Given the description of an element on the screen output the (x, y) to click on. 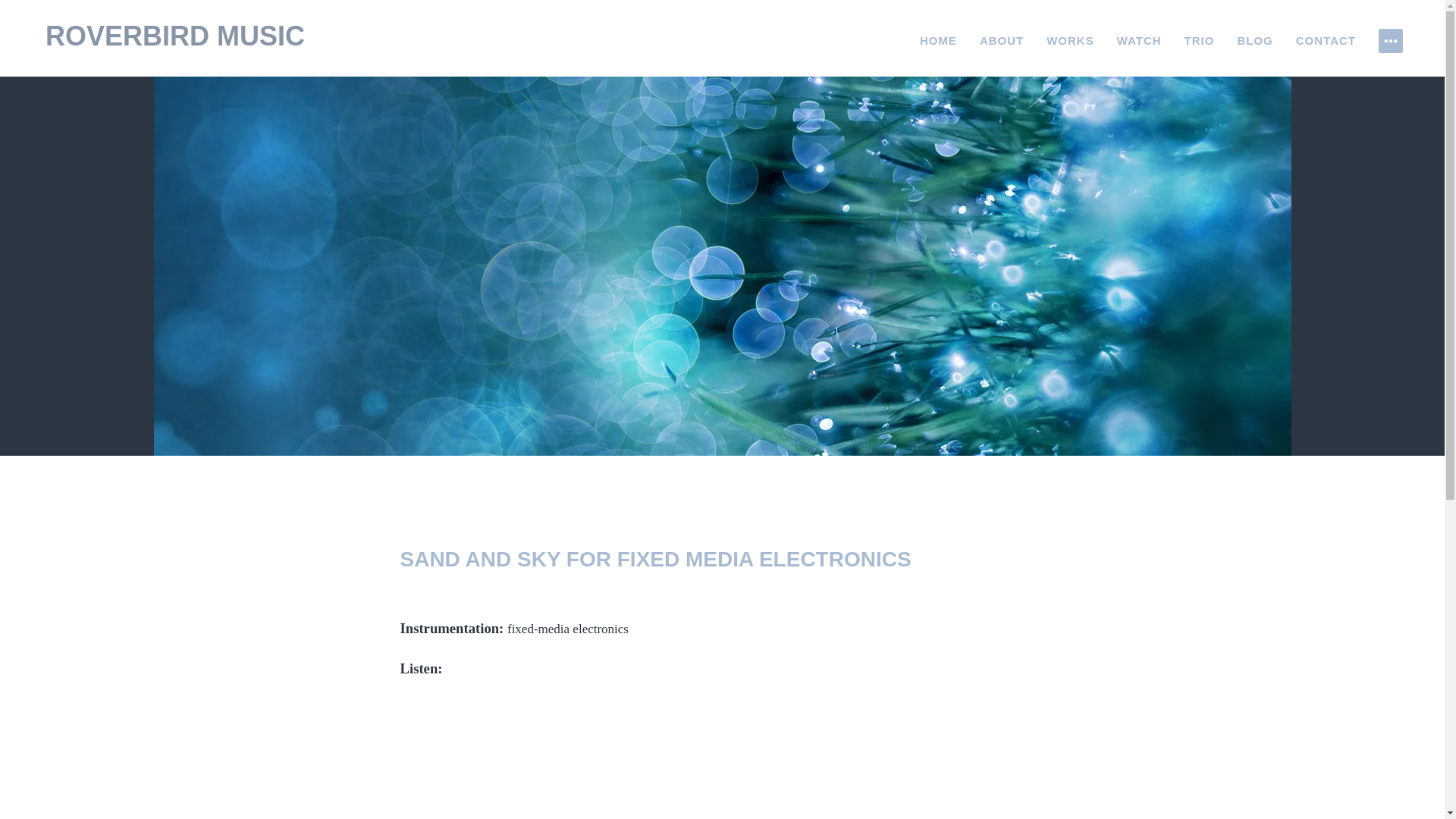
ROVERBIRD MUSIC (174, 35)
BLOG (1254, 40)
ABOUT (1001, 40)
WORKS (1070, 40)
TRIO (1199, 40)
WATCH (1138, 40)
HOME (938, 40)
CONTACT (1325, 40)
